Given the description of an element on the screen output the (x, y) to click on. 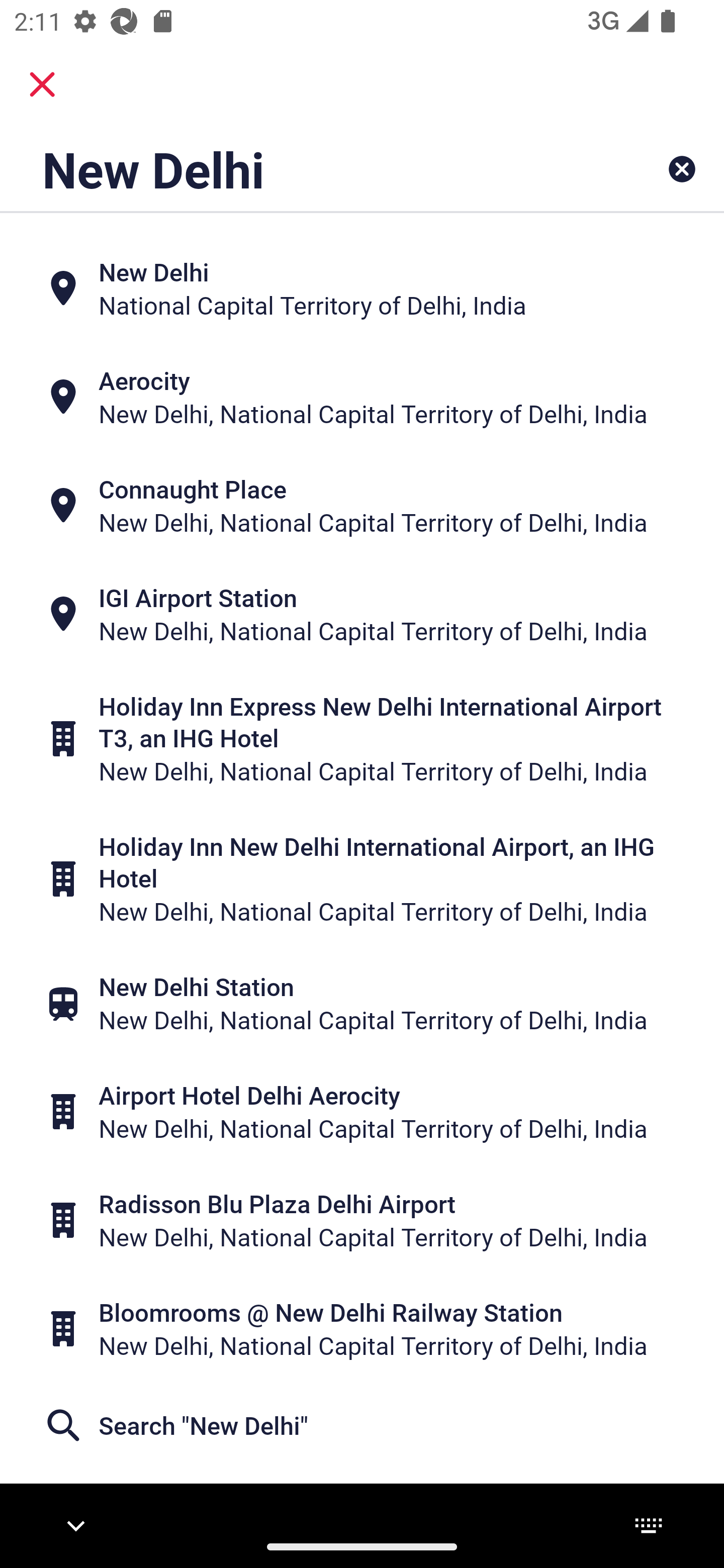
close. (42, 84)
Clear (681, 169)
New Delhi (298, 169)
Search "New Delhi" (362, 1424)
